Given the description of an element on the screen output the (x, y) to click on. 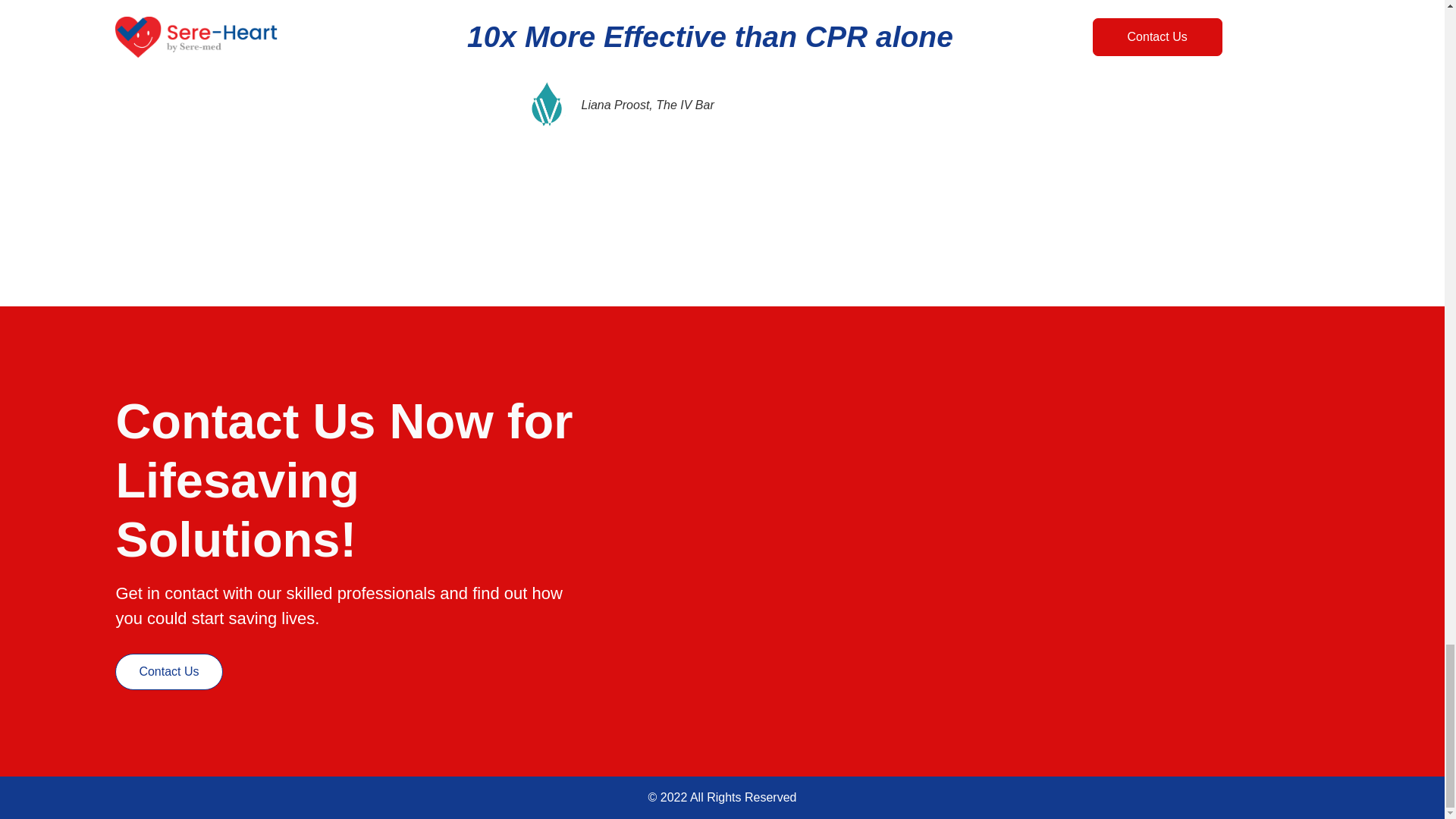
Contact Us (168, 671)
